Given the description of an element on the screen output the (x, y) to click on. 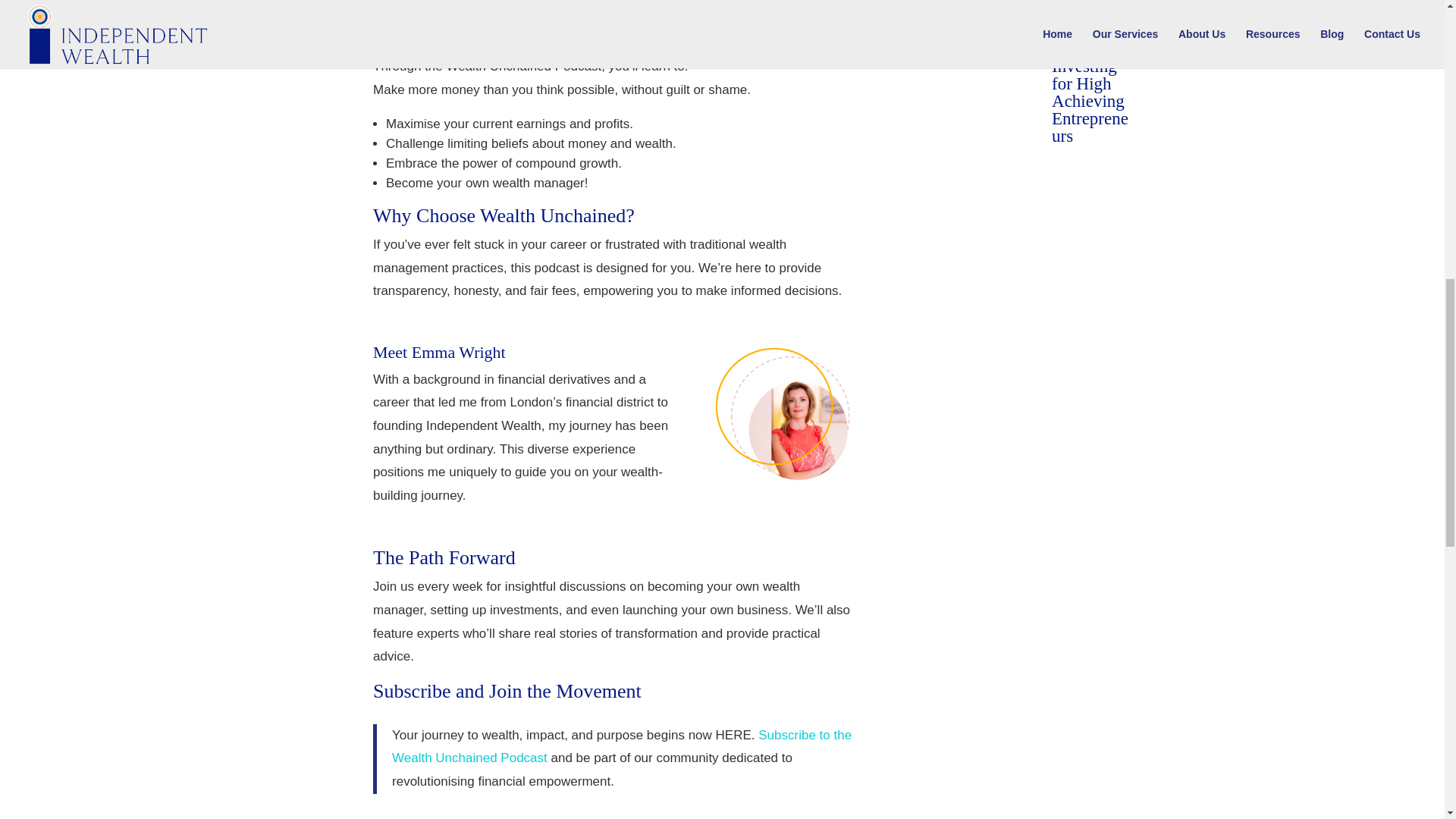
Subscribe to the Wealth Unchained Podcast (621, 746)
